Given the description of an element on the screen output the (x, y) to click on. 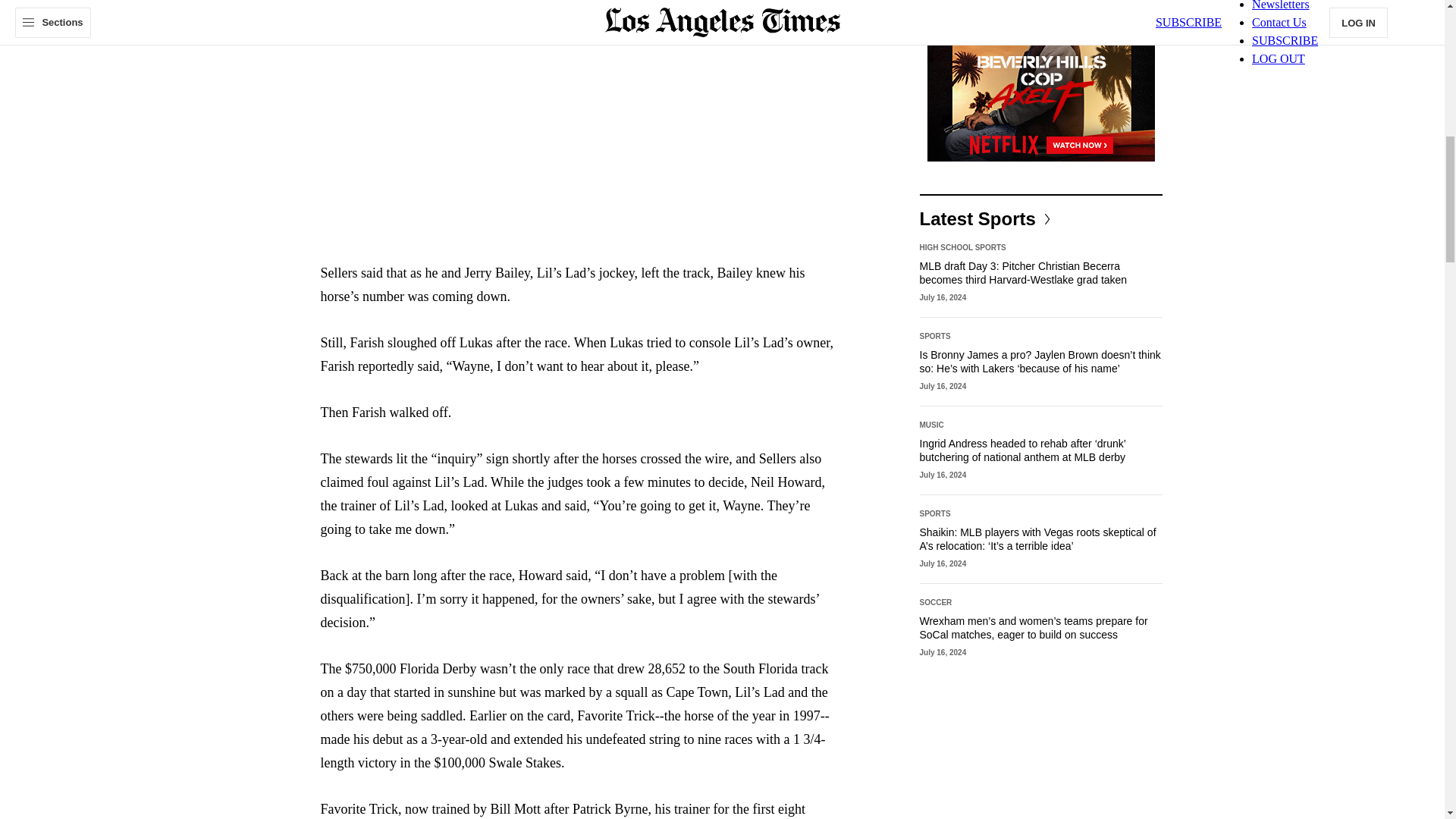
3rd party ad content (1040, 80)
